Given the description of an element on the screen output the (x, y) to click on. 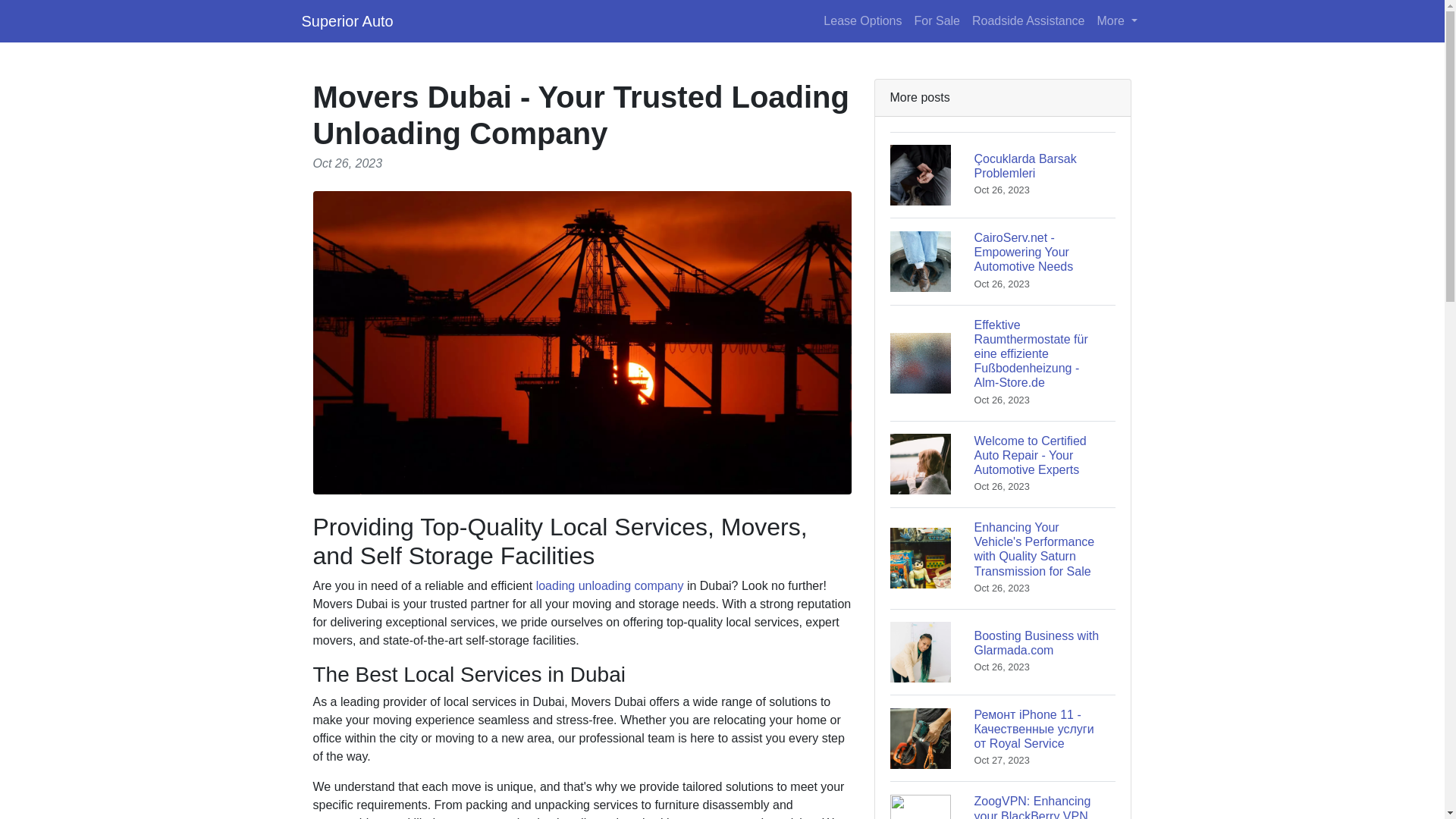
loading unloading company (609, 585)
Roadside Assistance (1028, 20)
More (1116, 20)
Lease Options (1002, 651)
For Sale (861, 20)
